Given the description of an element on the screen output the (x, y) to click on. 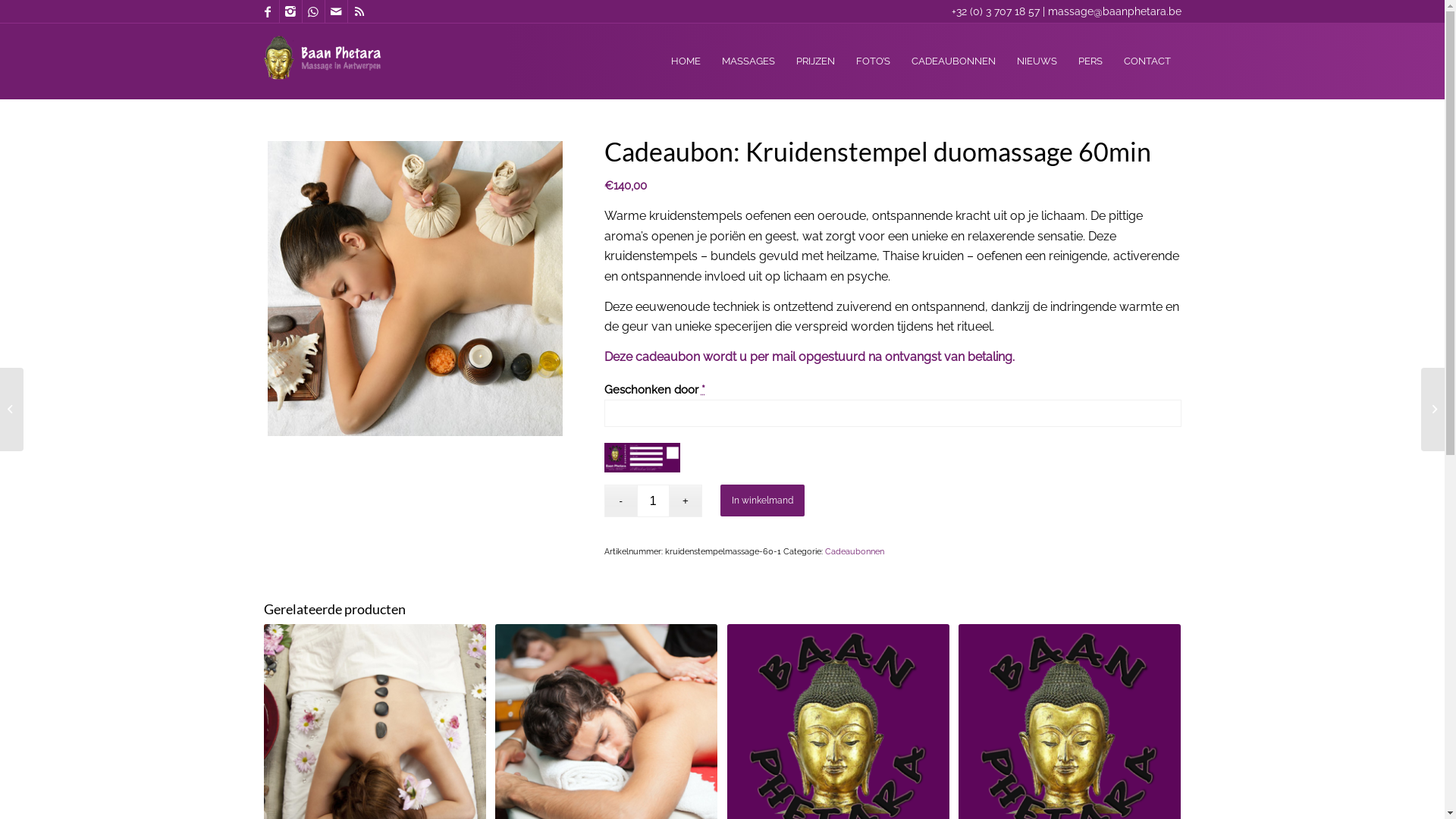
Rss Element type: hover (358, 11)
WhatsApp Element type: hover (312, 11)
HOME Element type: text (684, 61)
MASSAGES Element type: text (748, 61)
PERS Element type: text (1090, 61)
In winkelmand Element type: text (762, 500)
PRIJZEN Element type: text (815, 61)
CADEAUBONNEN Element type: text (953, 61)
Instagram Element type: hover (290, 11)
Facebook Element type: hover (267, 11)
Mail Element type: hover (335, 11)
Voucher Image Element type: hover (642, 457)
CONTACT Element type: text (1147, 61)
Cadeaubonnen Element type: text (854, 551)
NIEUWS Element type: text (1035, 61)
Aantal Element type: hover (653, 500)
